Given the description of an element on the screen output the (x, y) to click on. 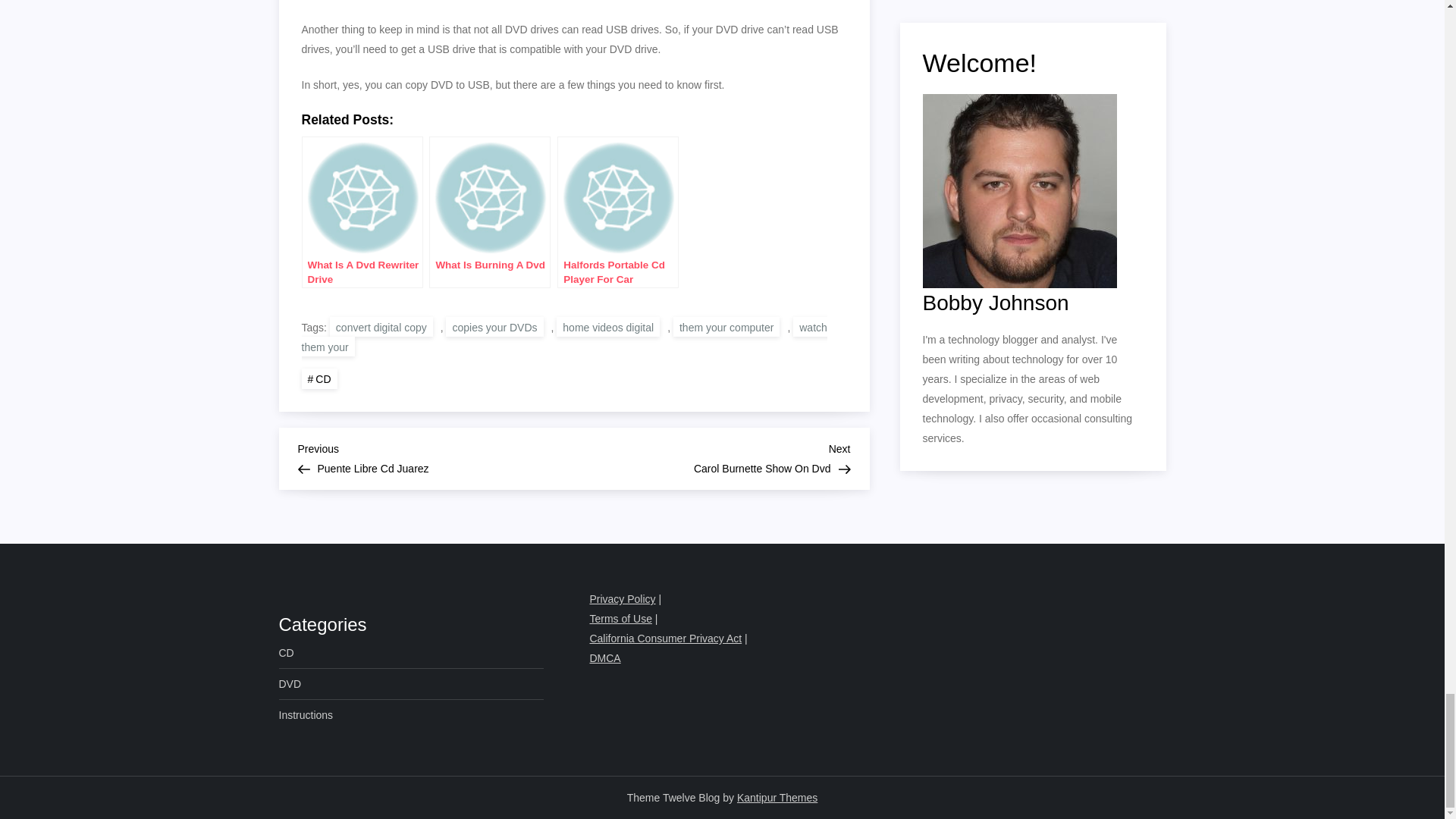
them your computer (726, 326)
home videos digital (607, 326)
CD (319, 378)
copies your DVDs (494, 326)
convert digital copy (711, 456)
Instructions (381, 326)
Privacy Policy (306, 714)
watch them your (622, 598)
DVD (435, 456)
